Given the description of an element on the screen output the (x, y) to click on. 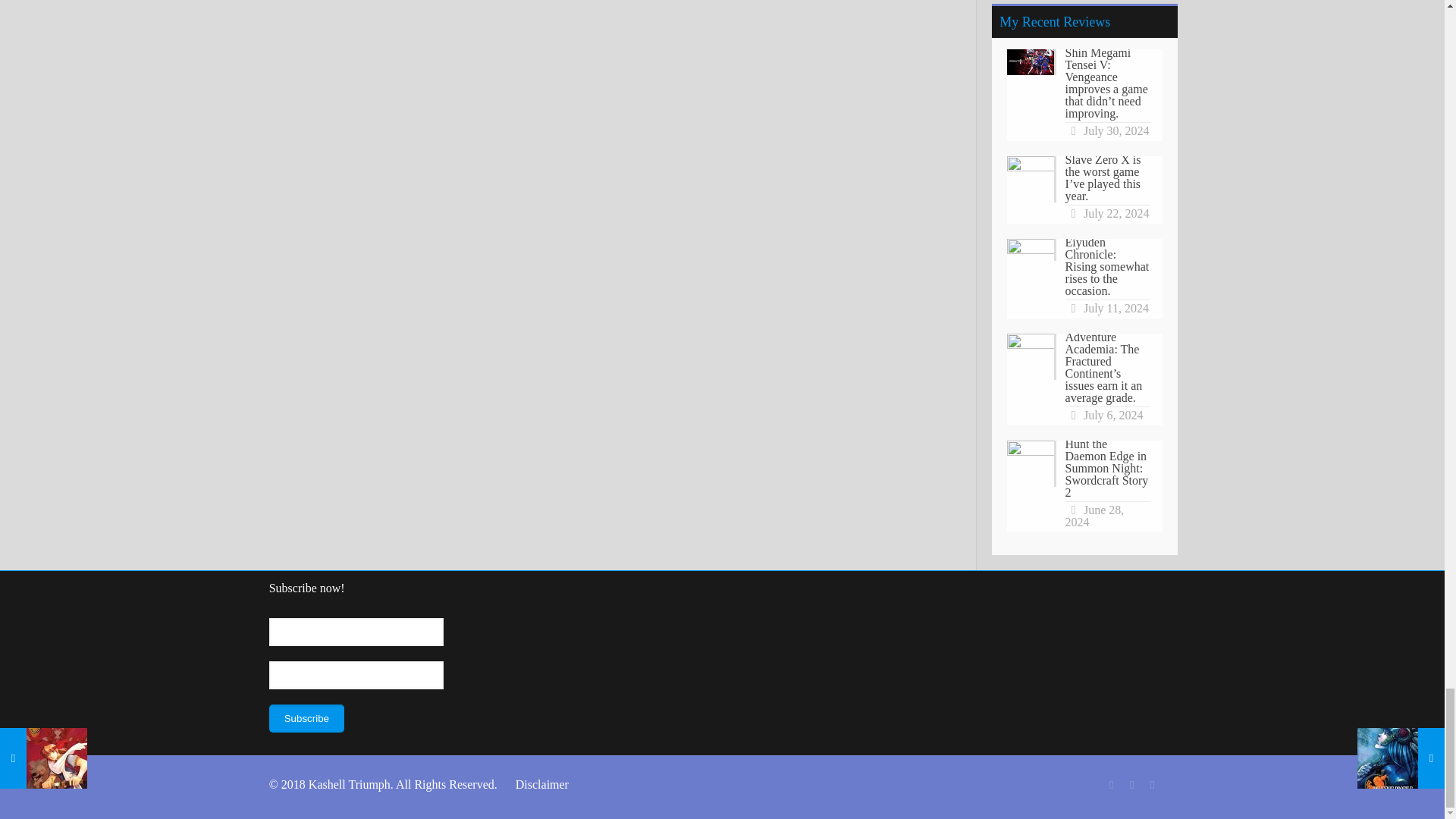
Facebook (1111, 784)
Instagram (1152, 784)
Subscribe (306, 718)
Disclaimer (542, 784)
Twitter (1132, 784)
